Given the description of an element on the screen output the (x, y) to click on. 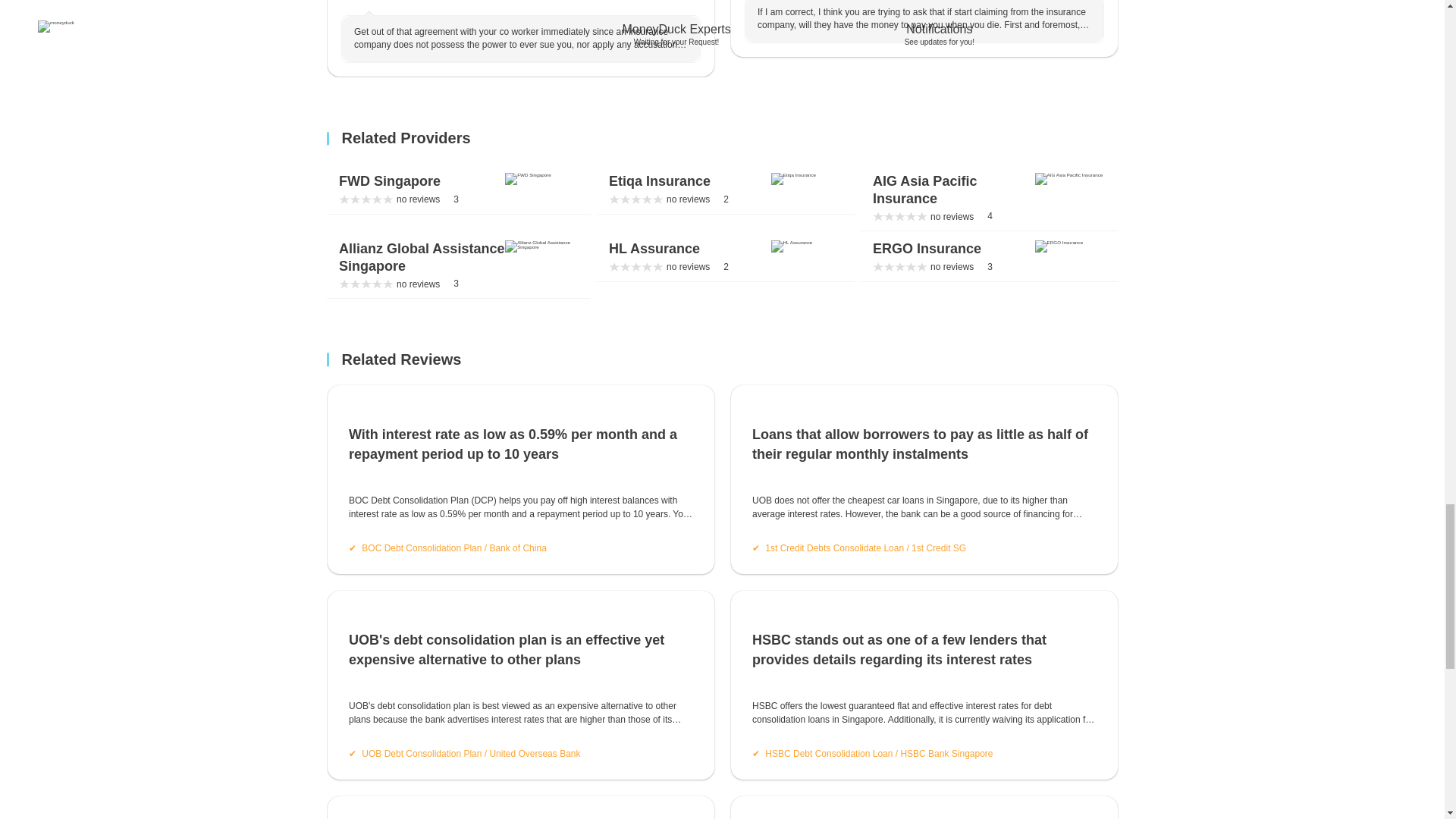
Does my debt in insurance company may lead to me being sued? (457, 188)
